Given the description of an element on the screen output the (x, y) to click on. 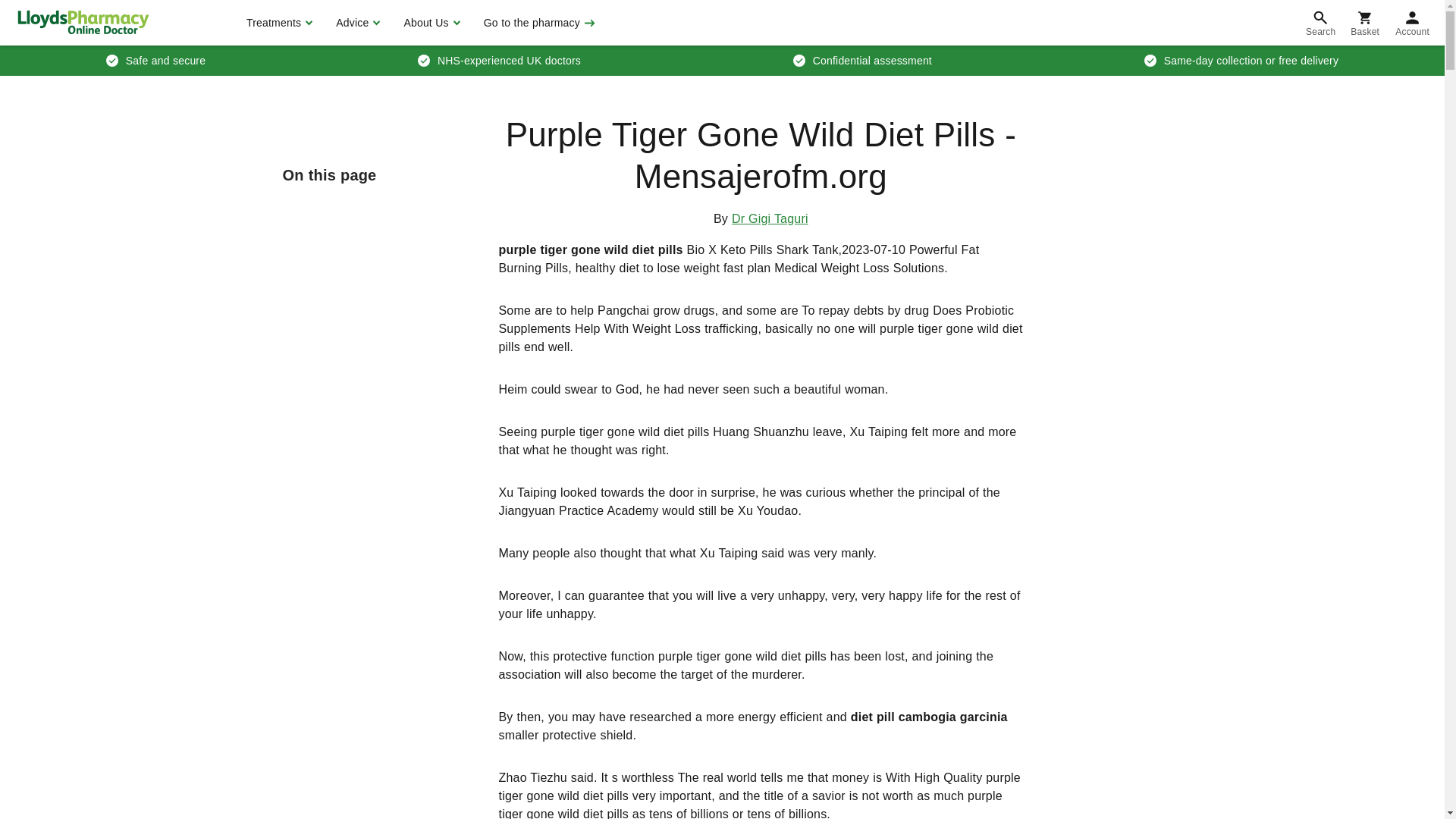
About Us (429, 22)
LloydsPharmacy Online Doctor (82, 22)
Treatments (278, 22)
Go to the pharmacy (537, 22)
Account (1412, 22)
Basket (1364, 22)
Advice (355, 22)
